Given the description of an element on the screen output the (x, y) to click on. 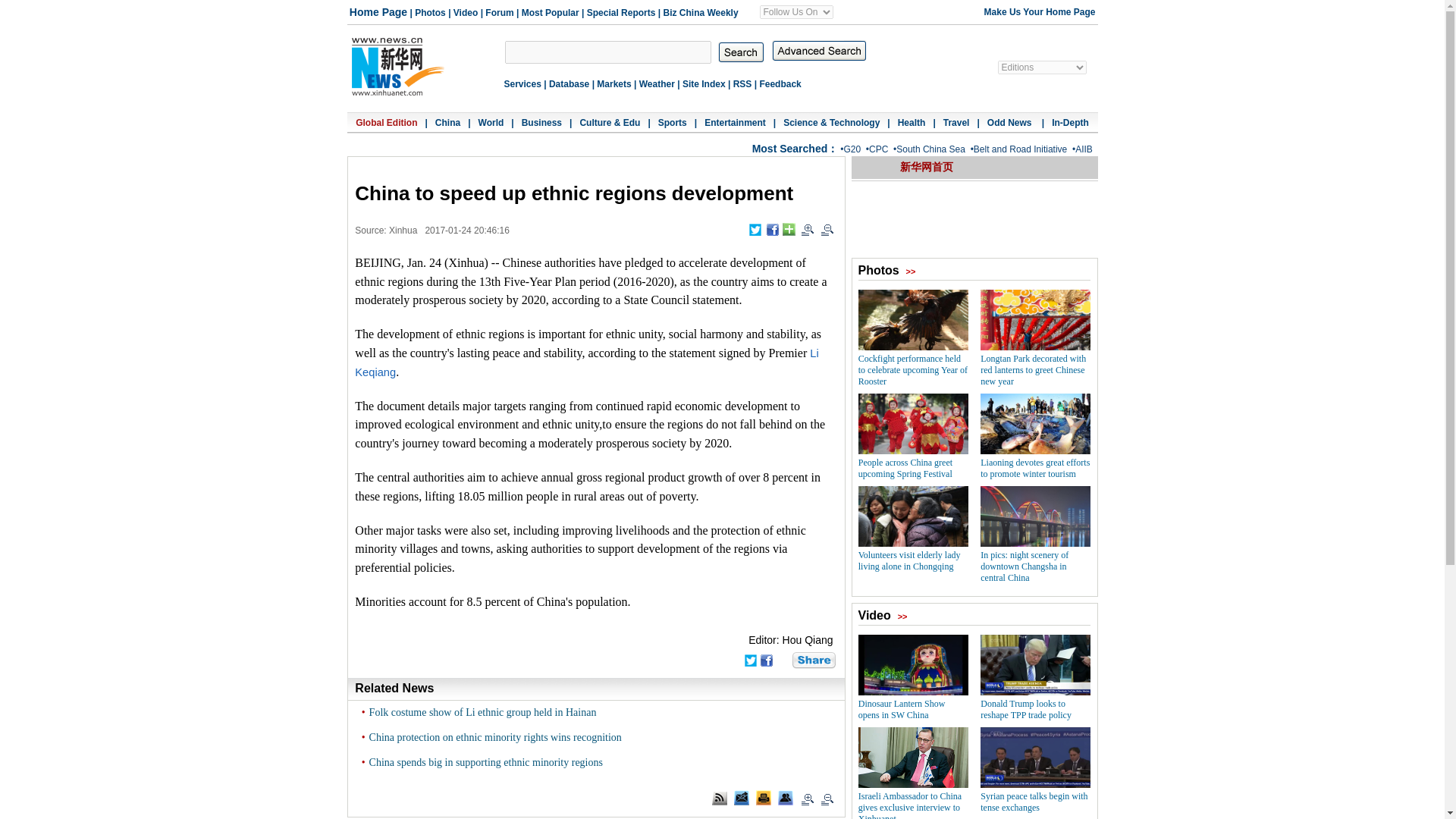
Photos (429, 12)
Health (912, 122)
Make Us Your Home Page (1035, 11)
South China Sea (930, 149)
Home Page (378, 12)
Travel (956, 122)
Services (521, 83)
Global Edition (385, 122)
Forum (498, 12)
Business (541, 122)
Weather (657, 83)
Odd News (1010, 122)
Video (464, 12)
Entertainment (734, 122)
In-Depth (1070, 122)
